Given the description of an element on the screen output the (x, y) to click on. 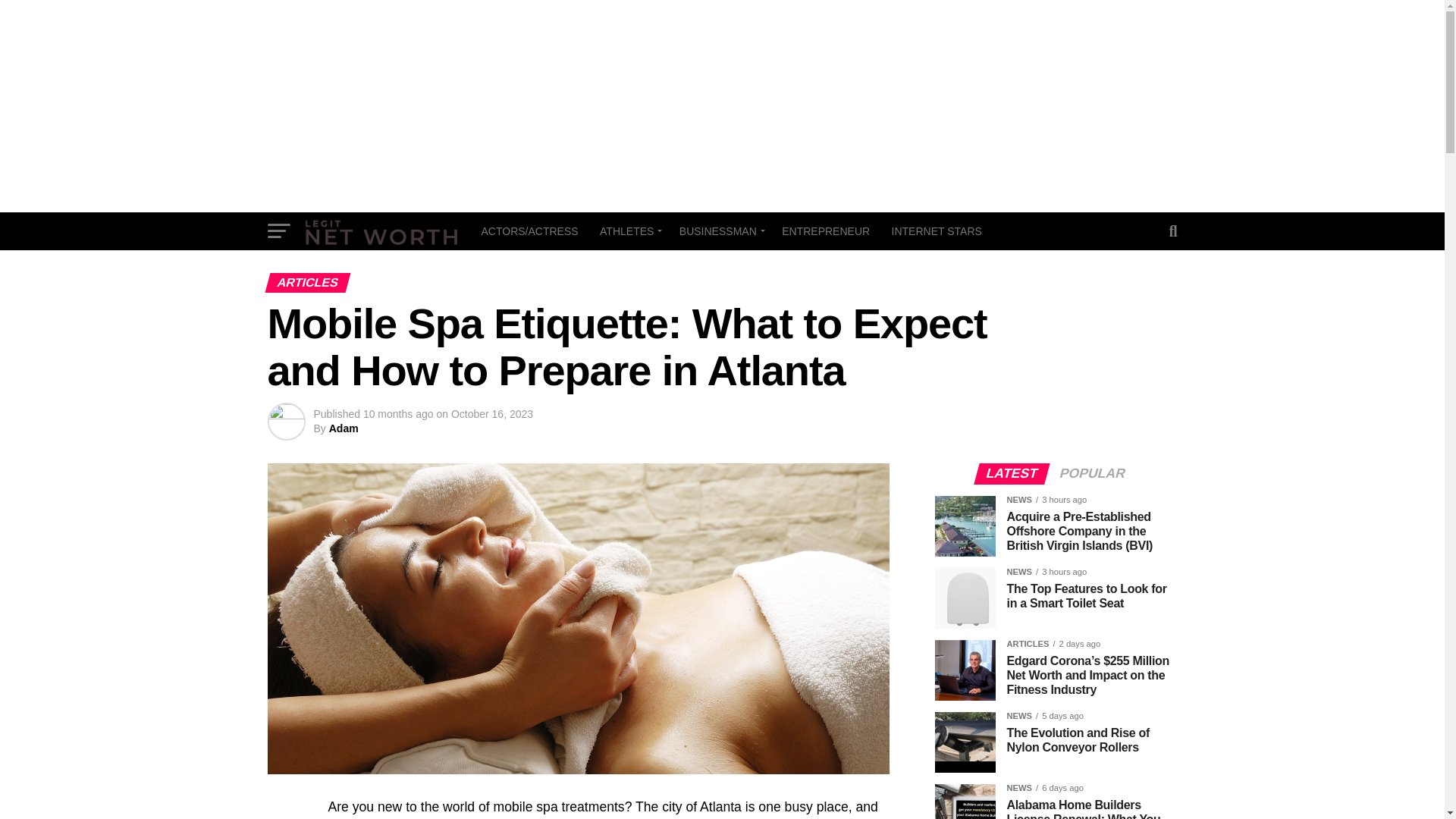
INTERNET STARS (936, 231)
Posts by Adam (343, 428)
BUSINESSMAN (719, 231)
ATHLETES (628, 231)
ENTREPRENEUR (826, 231)
